Given the description of an element on the screen output the (x, y) to click on. 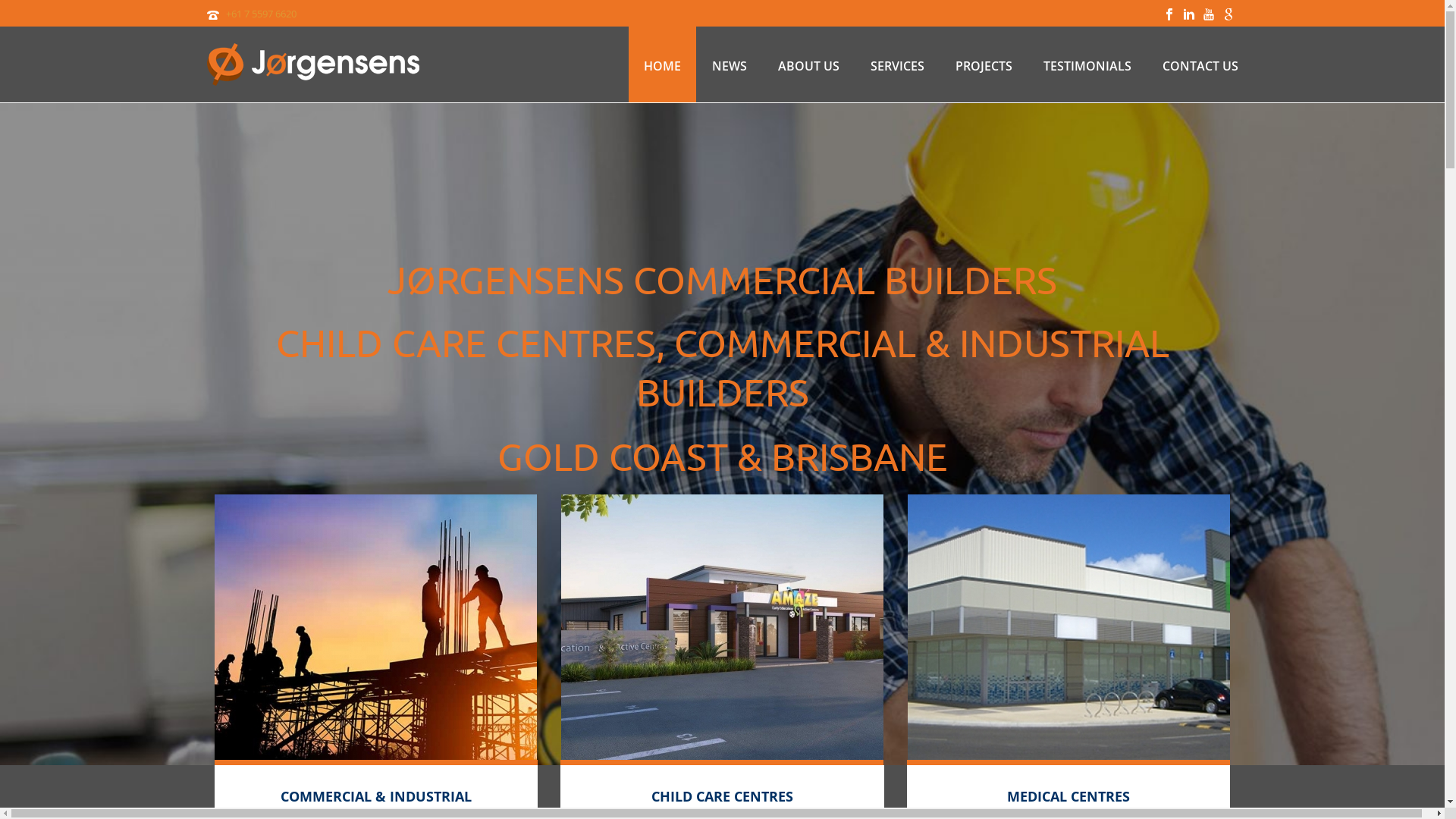
Home Element type: hover (722, 626)
NEWS Element type: text (728, 64)
Commercial and Industrial Project Builders Gold Coast Element type: hover (312, 64)
SERVICES Element type: text (897, 64)
PROJECTS Element type: text (983, 64)
jorgensens-medical-centre-construction Element type: hover (1068, 626)
CONTACT US Element type: text (1199, 64)
TESTIMONIALS Element type: text (1087, 64)
+61 7 5597 6620 Element type: text (260, 13)
ABOUT US Element type: text (808, 64)
Home Element type: hover (375, 626)
HOME Element type: text (661, 64)
